Given the description of an element on the screen output the (x, y) to click on. 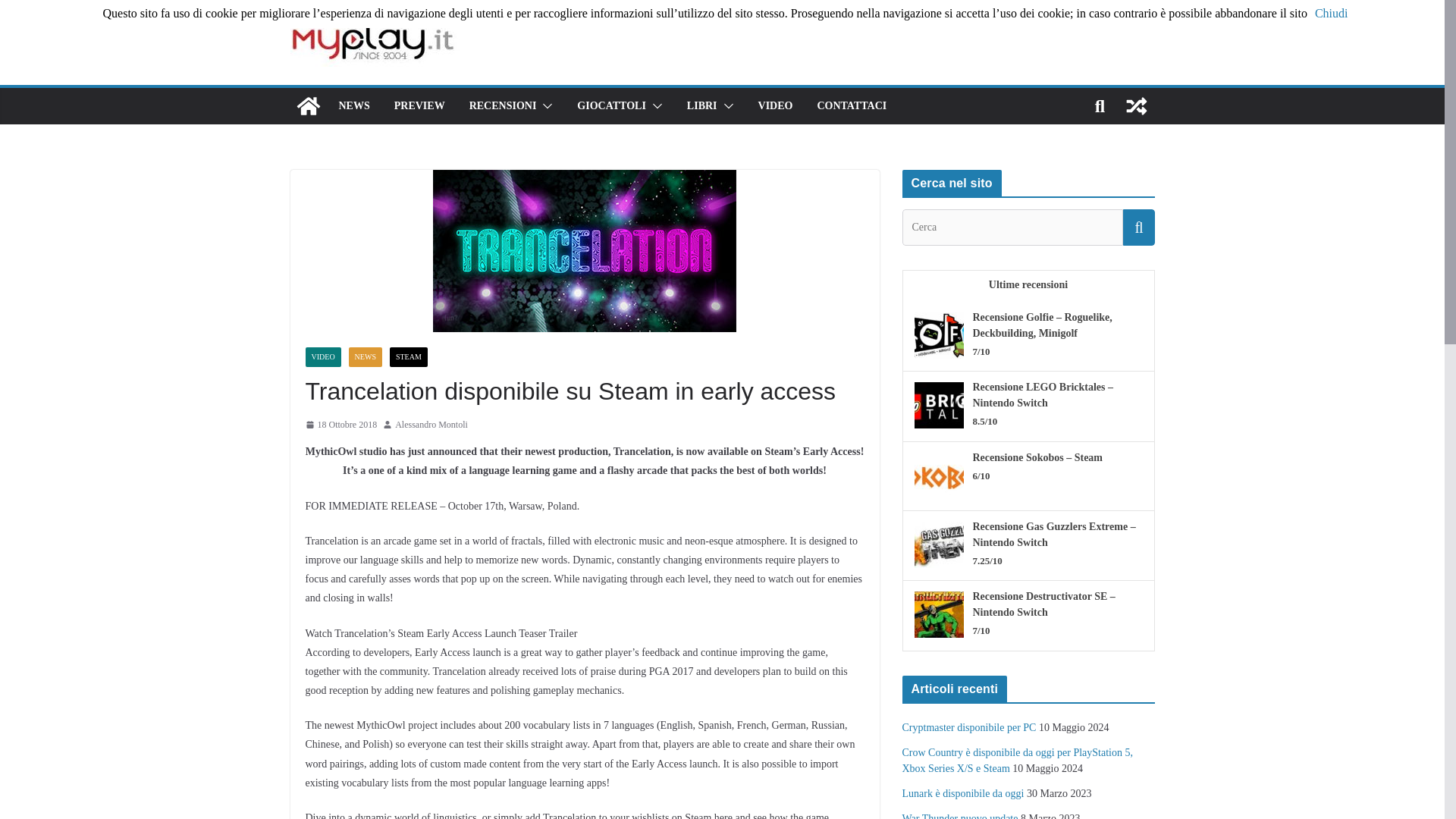
PREVIEW (419, 106)
VIDEO (775, 106)
CONTATTACI (851, 106)
RECENSIONI (502, 106)
Alessandro Montoli (430, 425)
06:39 (340, 425)
STEAM (409, 356)
Leggi un articolo casuale (1136, 105)
GIOCATTOLI (611, 106)
NEWS (365, 356)
